Given the description of an element on the screen output the (x, y) to click on. 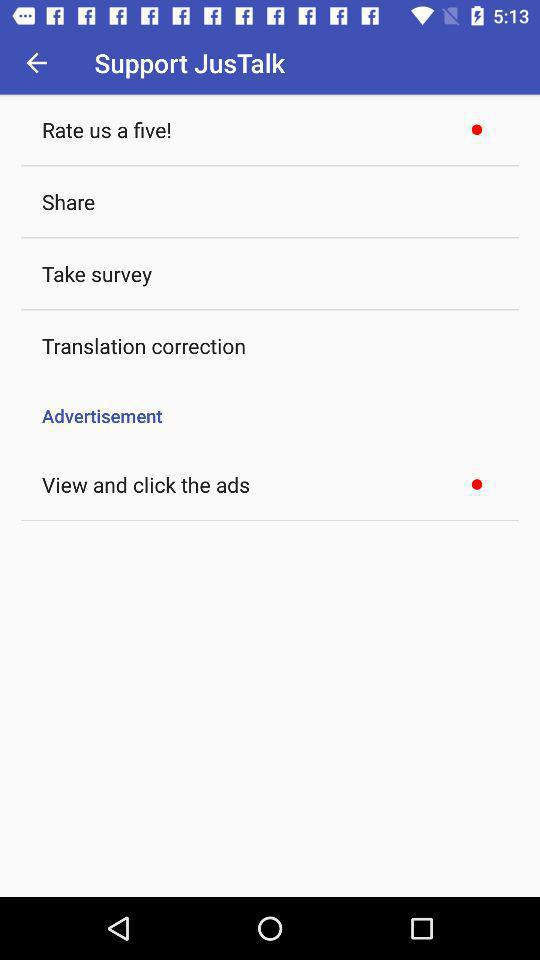
click item to the left of support justalk (36, 62)
